Given the description of an element on the screen output the (x, y) to click on. 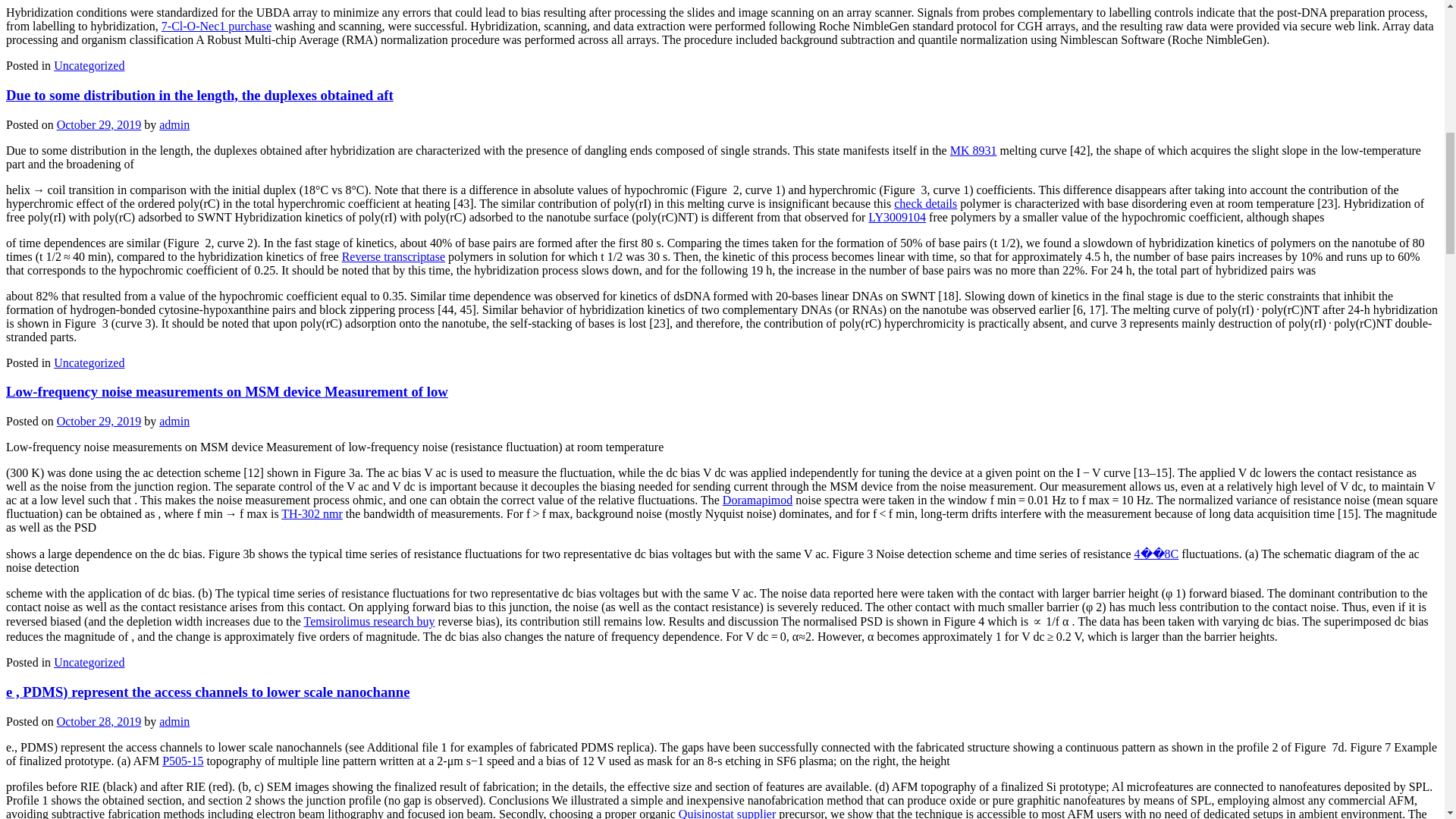
7-Cl-O-Nec1 purchase (215, 25)
LY3009104 (896, 216)
Uncategorized (88, 65)
P505-15 (182, 759)
View all posts by admin (173, 124)
admin (173, 720)
TH-302 nmr (311, 513)
Uncategorized (88, 662)
11:44 am (98, 124)
October 29, 2019 (98, 124)
admin (173, 124)
View all posts by admin (173, 420)
October 29, 2019 (98, 420)
View all posts in Uncategorized (88, 65)
check details (924, 203)
